Given the description of an element on the screen output the (x, y) to click on. 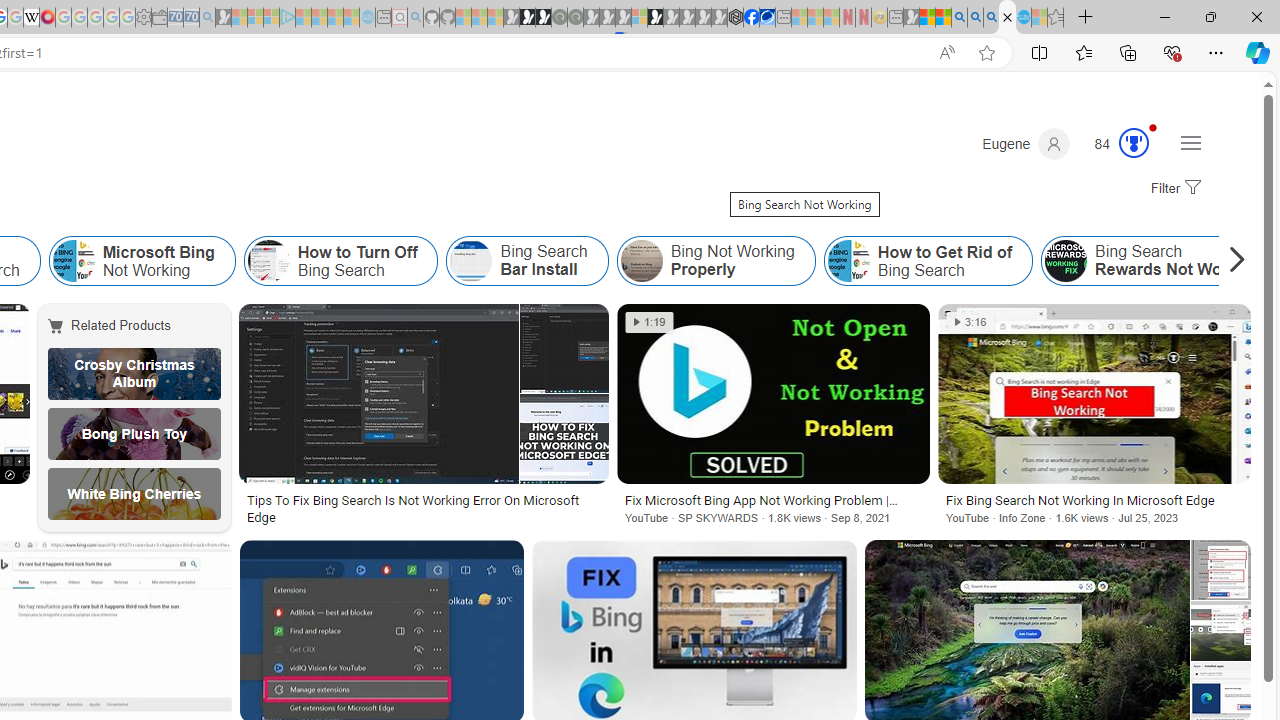
Class: item col (928, 260)
MediaWiki (47, 17)
How to Get Rid of Bing Search (928, 260)
Nordace - Cooler Bags (735, 17)
Bing Crosby Christmas Album (134, 373)
Filter (1173, 189)
How to Turn Off Bing Search (340, 260)
Animation (1153, 127)
Target page - Wikipedia (31, 17)
Future Focus Report 2024 - Sleeping (575, 17)
AutomationID: serp_medal_svg (1133, 142)
